Given the description of an element on the screen output the (x, y) to click on. 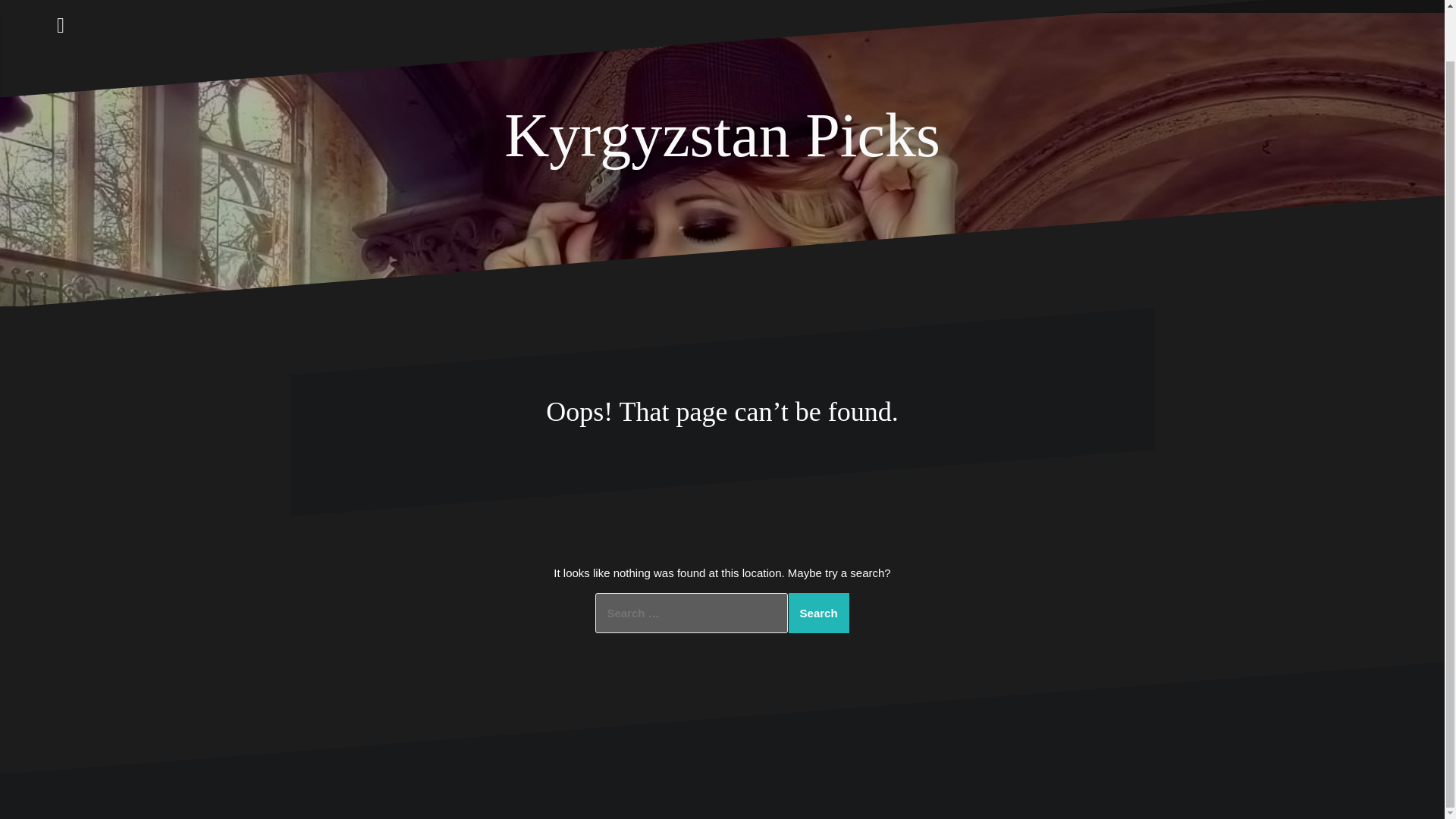
Search (818, 612)
Search (818, 612)
Search (818, 612)
Kyrgyzstan Picks (721, 134)
